Given the description of an element on the screen output the (x, y) to click on. 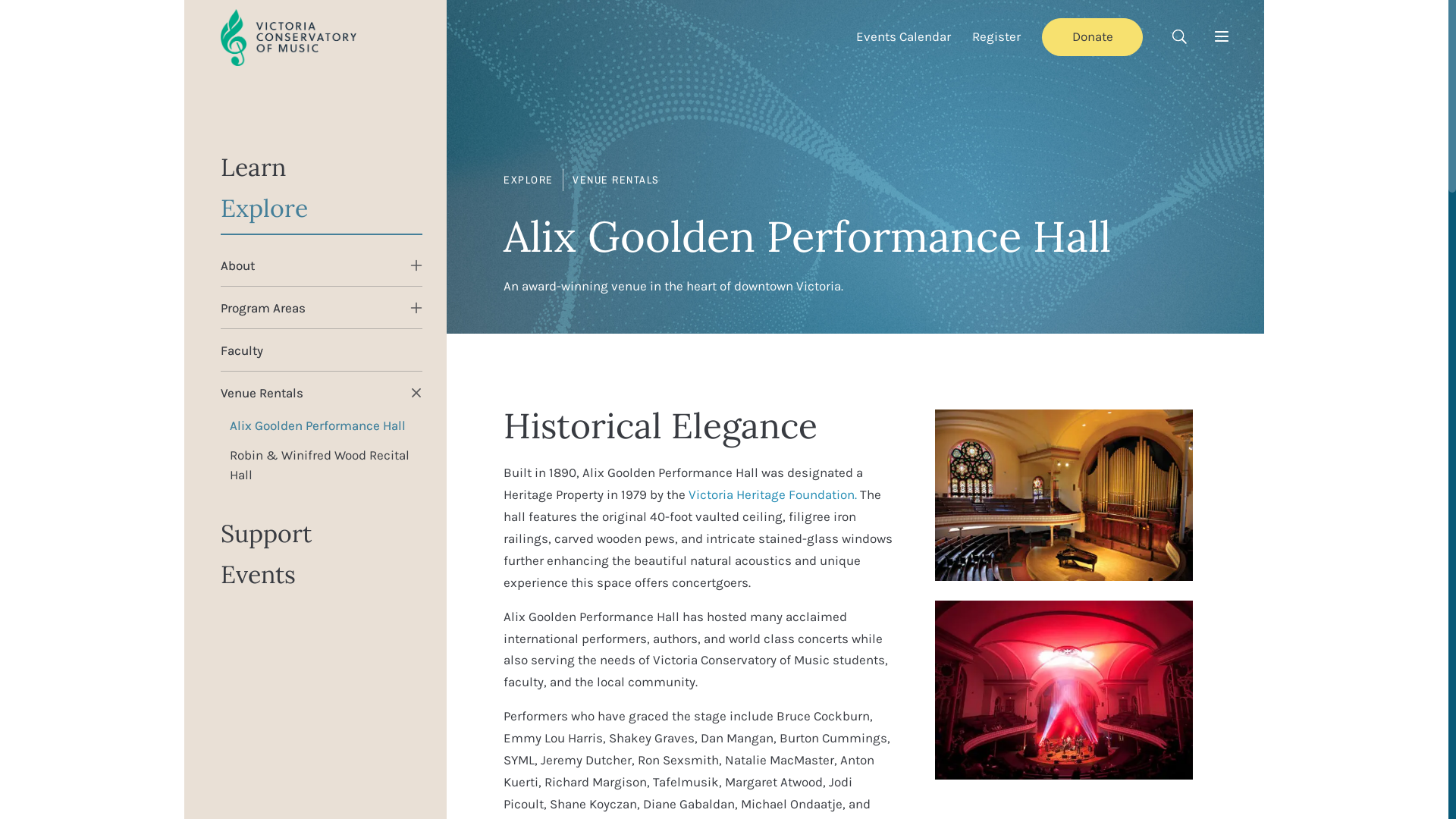
Donate Element type: text (1091, 36)
Faculty Element type: text (321, 349)
Explore Element type: text (321, 214)
Victoria Heritage Foundation. Element type: text (772, 494)
 Click to expand/collapse content...  Element type: hover (416, 307)
VENUE RENTALS Element type: text (615, 179)
Support Element type: text (321, 535)
EXPLORE Element type: text (528, 179)
 Click to expand/collapse content...  Element type: hover (413, 388)
About Element type: text (237, 264)
Venue Rentals Element type: text (261, 392)
 Click to expand/collapse content...  Element type: hover (416, 265)
Learn Element type: text (321, 169)
Register Element type: text (996, 36)
Alix Goolden Performance Hall Element type: text (321, 425)
Program Areas Element type: text (262, 307)
Events Calendar Element type: text (903, 36)
Robin & Winifred Wood Recital Hall Element type: text (321, 464)
Events Element type: text (321, 576)
alixgoodlenhall Element type: hover (1063, 494)
Menu Element type: text (1221, 36)
